Given the description of an element on the screen output the (x, y) to click on. 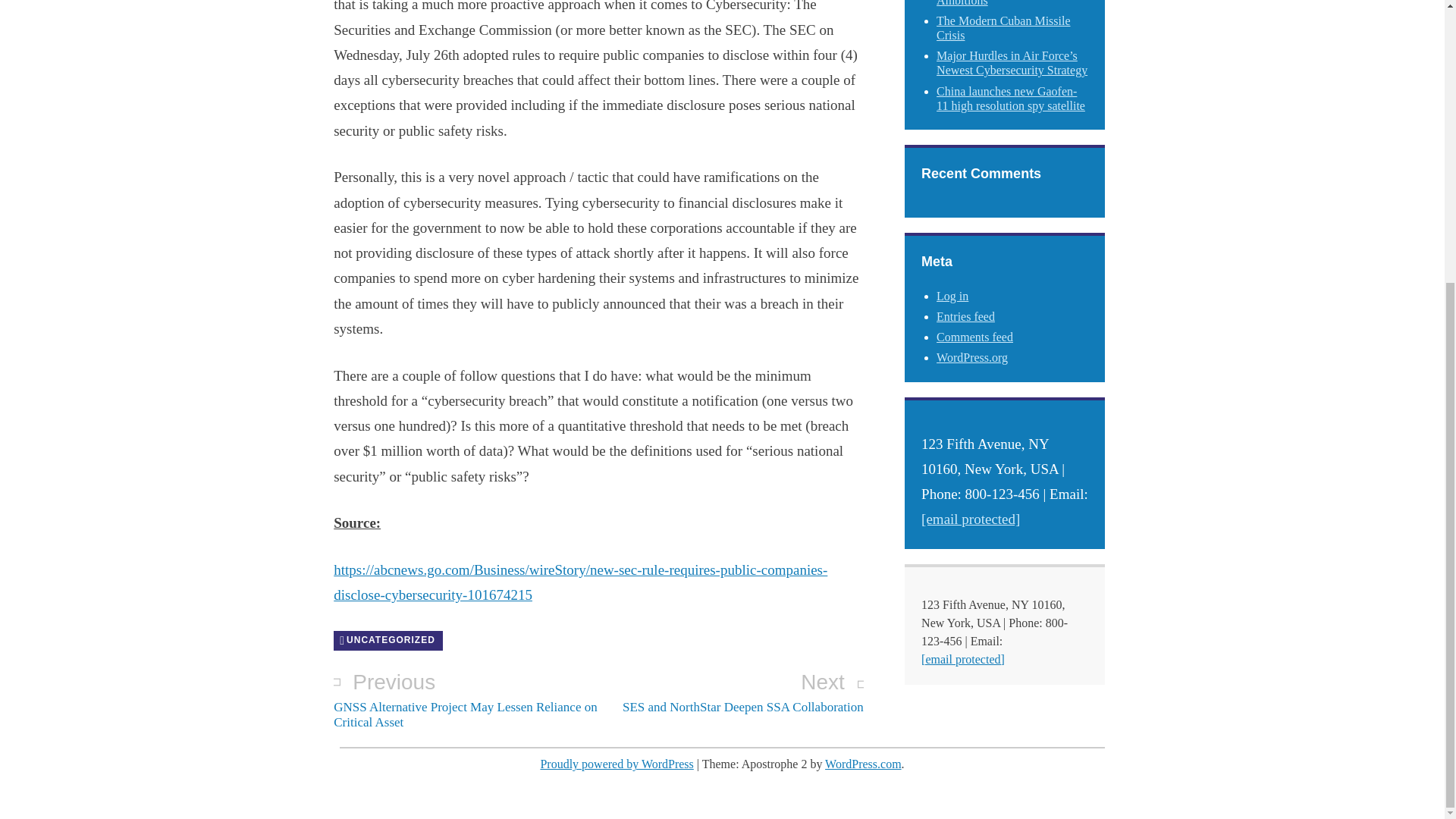
Comments feed (974, 336)
WordPress.org (971, 357)
South Korea Expanding Space Ambitions (1010, 2)
WordPress.com (863, 763)
China launches new Gaofen-11 high resolution spy satellite (1010, 98)
Entries feed (965, 316)
Log in (952, 295)
UNCATEGORIZED (387, 640)
Proudly powered by WordPress (616, 763)
The Modern Cuban Missile Crisis (730, 691)
